Given the description of an element on the screen output the (x, y) to click on. 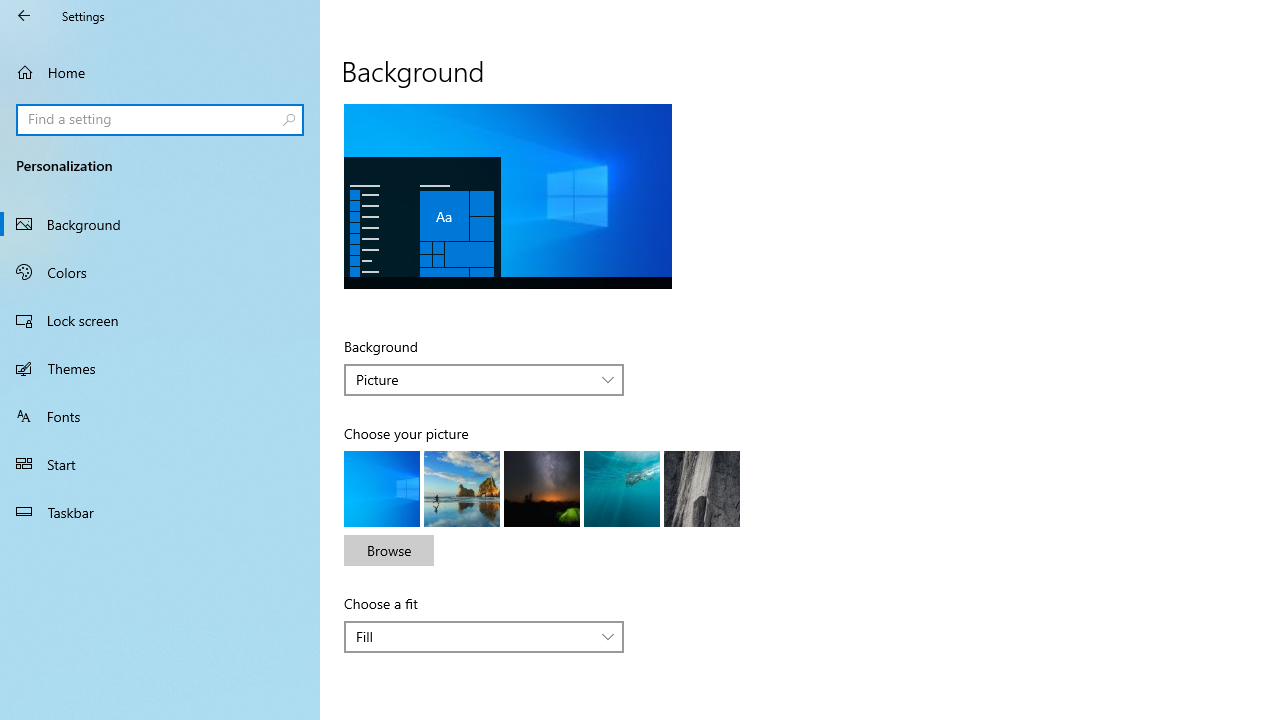
Background (160, 223)
Choose a fit (484, 636)
Picture (473, 379)
Lock screen (160, 319)
Colors (160, 271)
Fonts (160, 415)
Taskbar (160, 511)
Windows Spotlight Image (701, 488)
Themes (160, 367)
Browse (388, 549)
Fill (473, 636)
Background (484, 380)
Search box, Find a setting (160, 119)
